Given the description of an element on the screen output the (x, y) to click on. 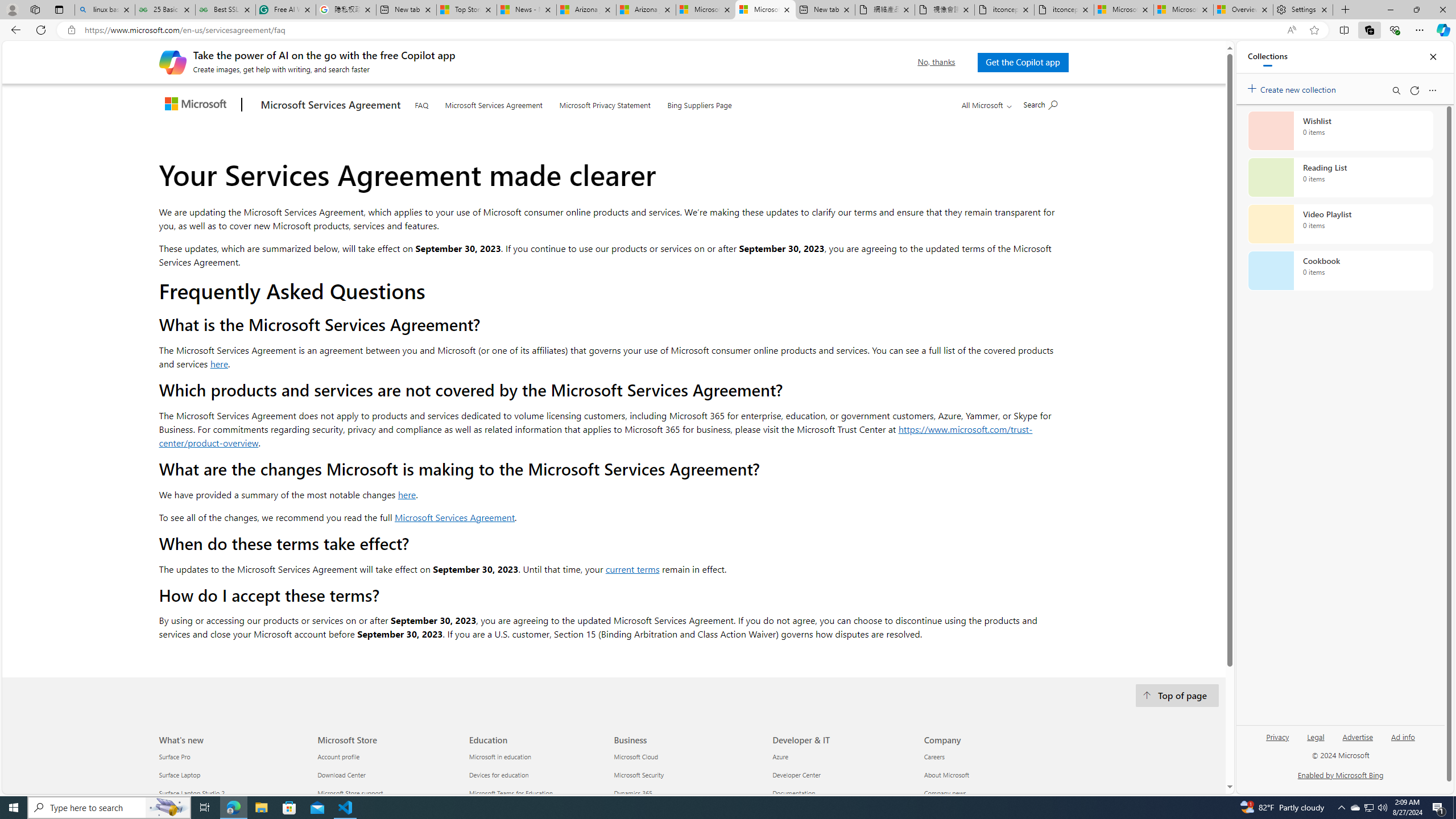
Download Center Microsoft Store (341, 774)
Microsoft in education Education (499, 756)
Account profile Microsoft Store (338, 756)
Free AI Writing Assistance for Students | Grammarly (285, 9)
Cookbook collection, 0 items (1339, 270)
Company news Company (944, 792)
About Microsoft Company (946, 774)
Bing Suppliers Page (699, 103)
More options menu (1432, 90)
Careers Company (933, 756)
Create new collection (1293, 87)
